Given the description of an element on the screen output the (x, y) to click on. 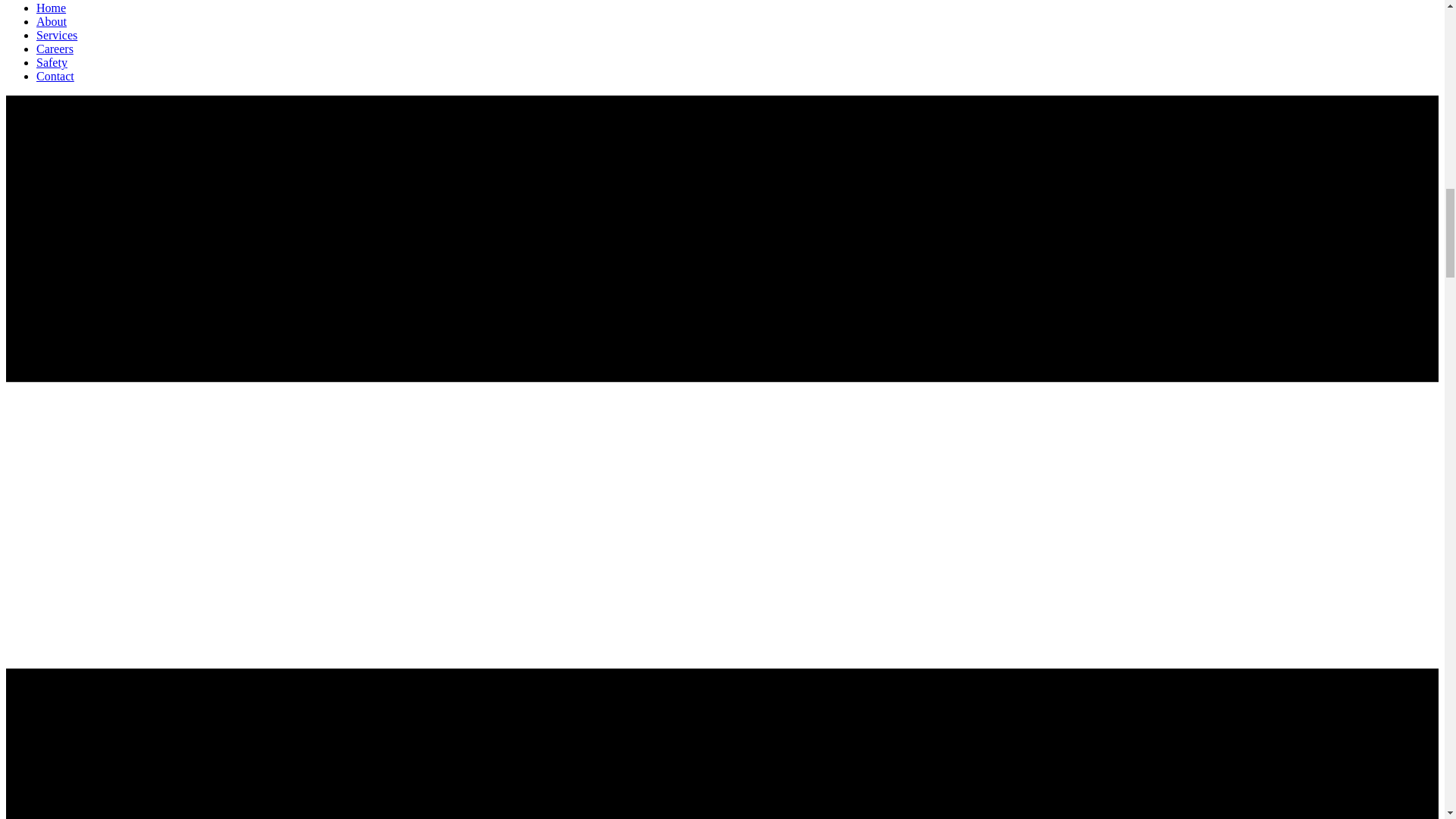
Careers (55, 48)
Contact (55, 75)
Services (56, 34)
Home (50, 7)
About (51, 21)
Safety (51, 62)
